Given the description of an element on the screen output the (x, y) to click on. 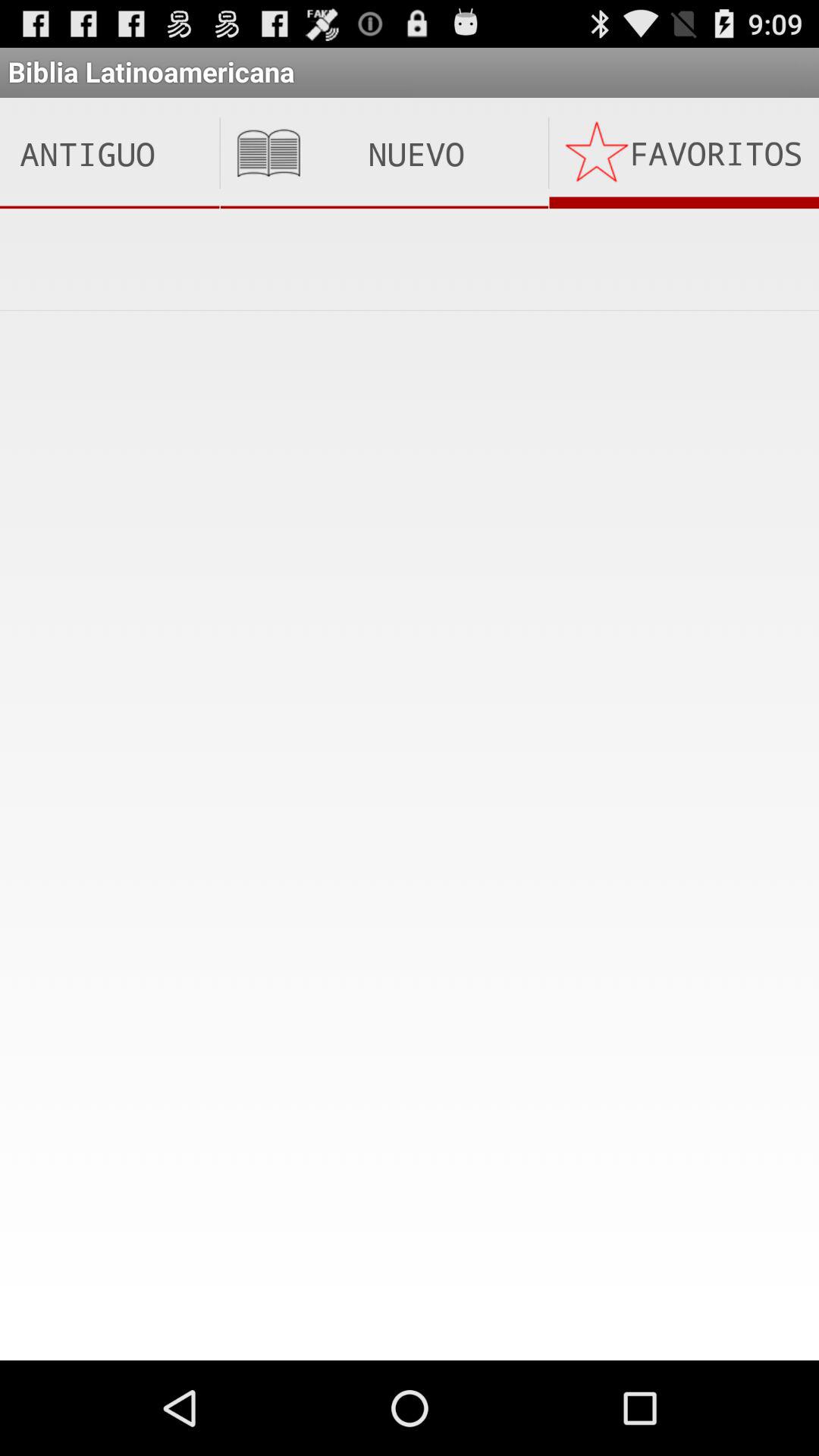
choose the item below the antiguo testamento item (409, 258)
